Given the description of an element on the screen output the (x, y) to click on. 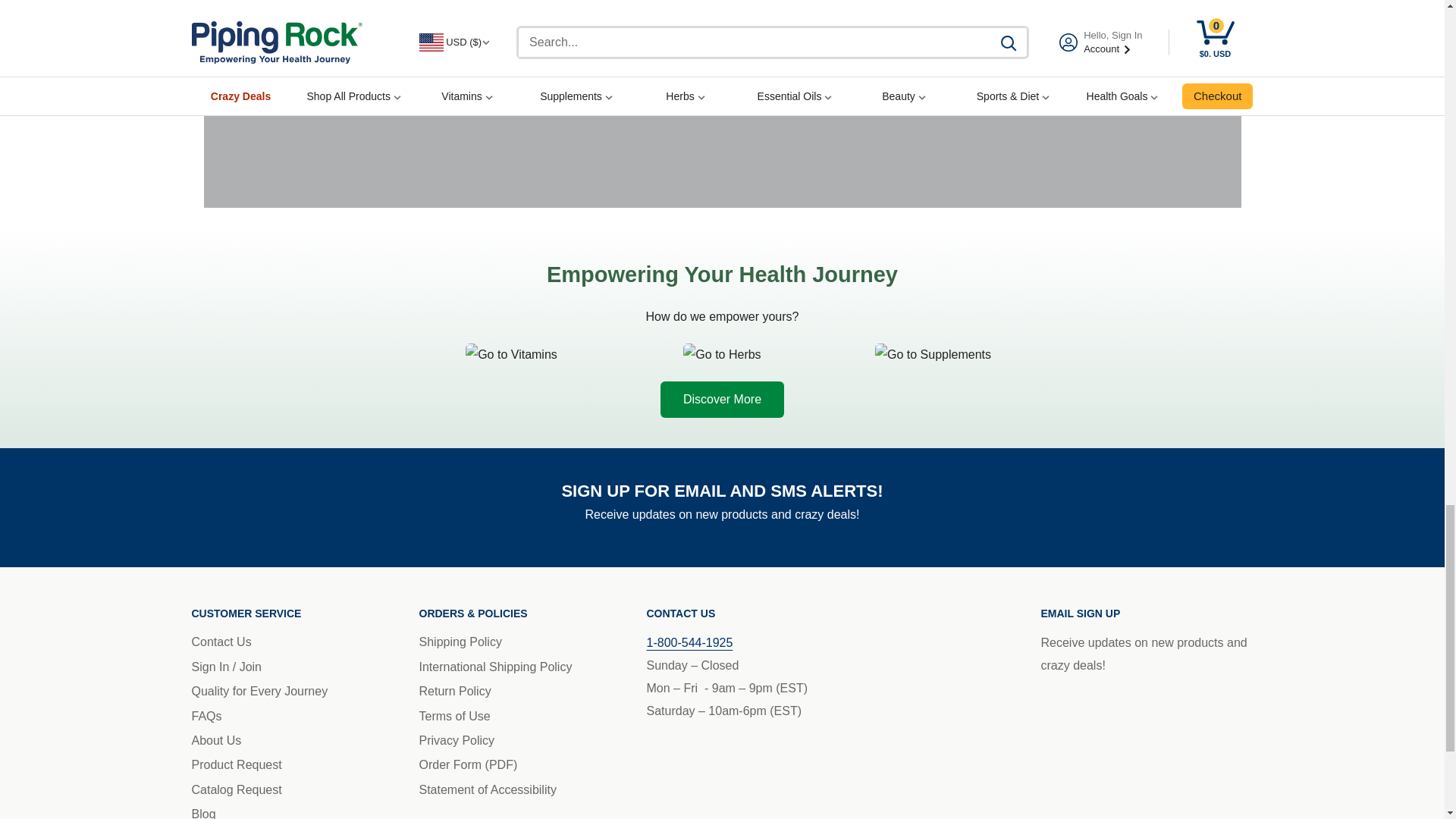
Supplements (933, 354)
Vitamins (511, 354)
Herbs (722, 354)
Discover More (722, 399)
